Given the description of an element on the screen output the (x, y) to click on. 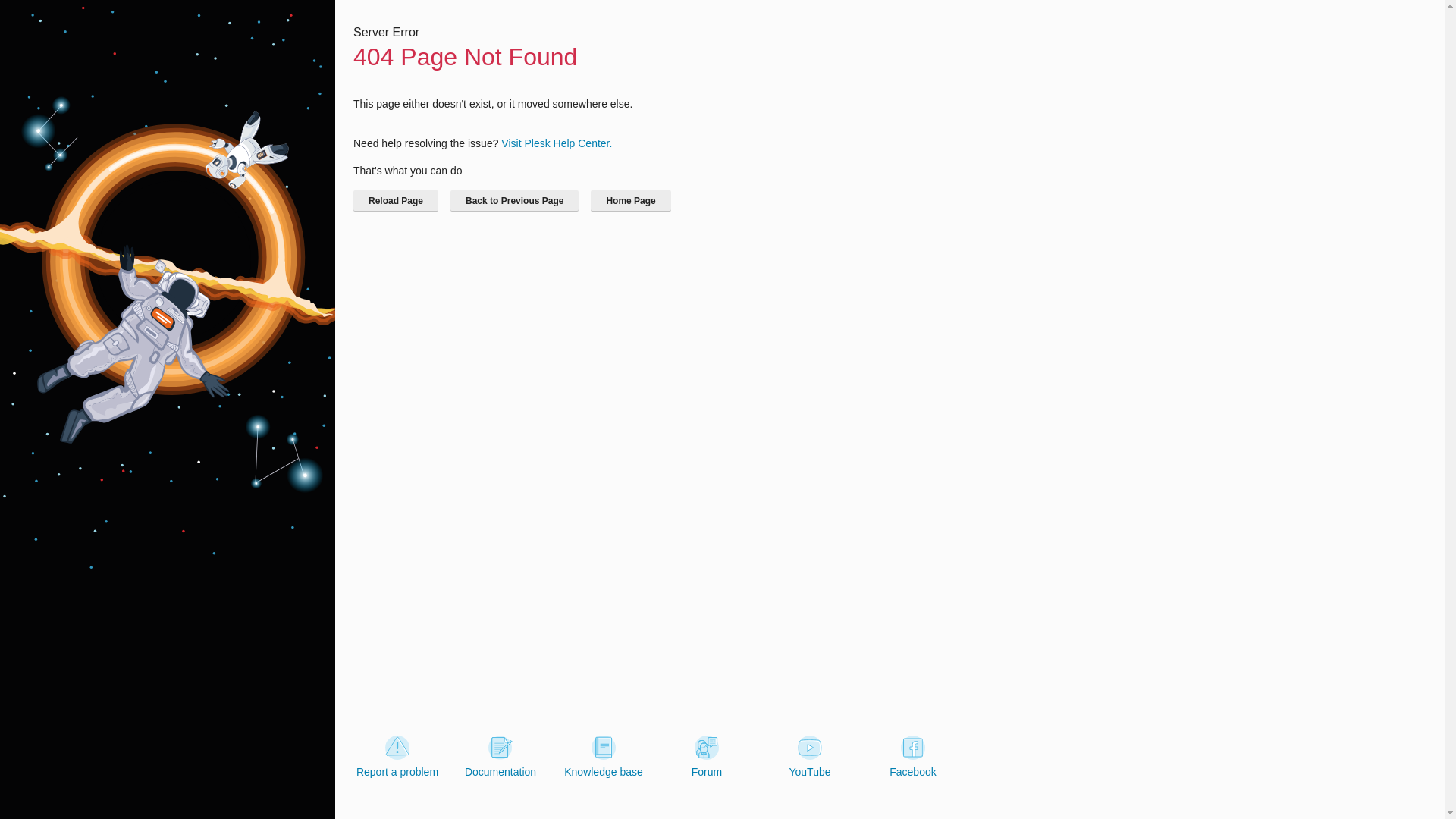
Documentation (500, 757)
Home Page (630, 200)
Reload Page (395, 200)
Visit Plesk Help Center. (555, 143)
Facebook (912, 757)
Back to Previous Page (513, 200)
Knowledge base (603, 757)
Report a problem (397, 757)
YouTube (809, 757)
Forum (706, 757)
